Given the description of an element on the screen output the (x, y) to click on. 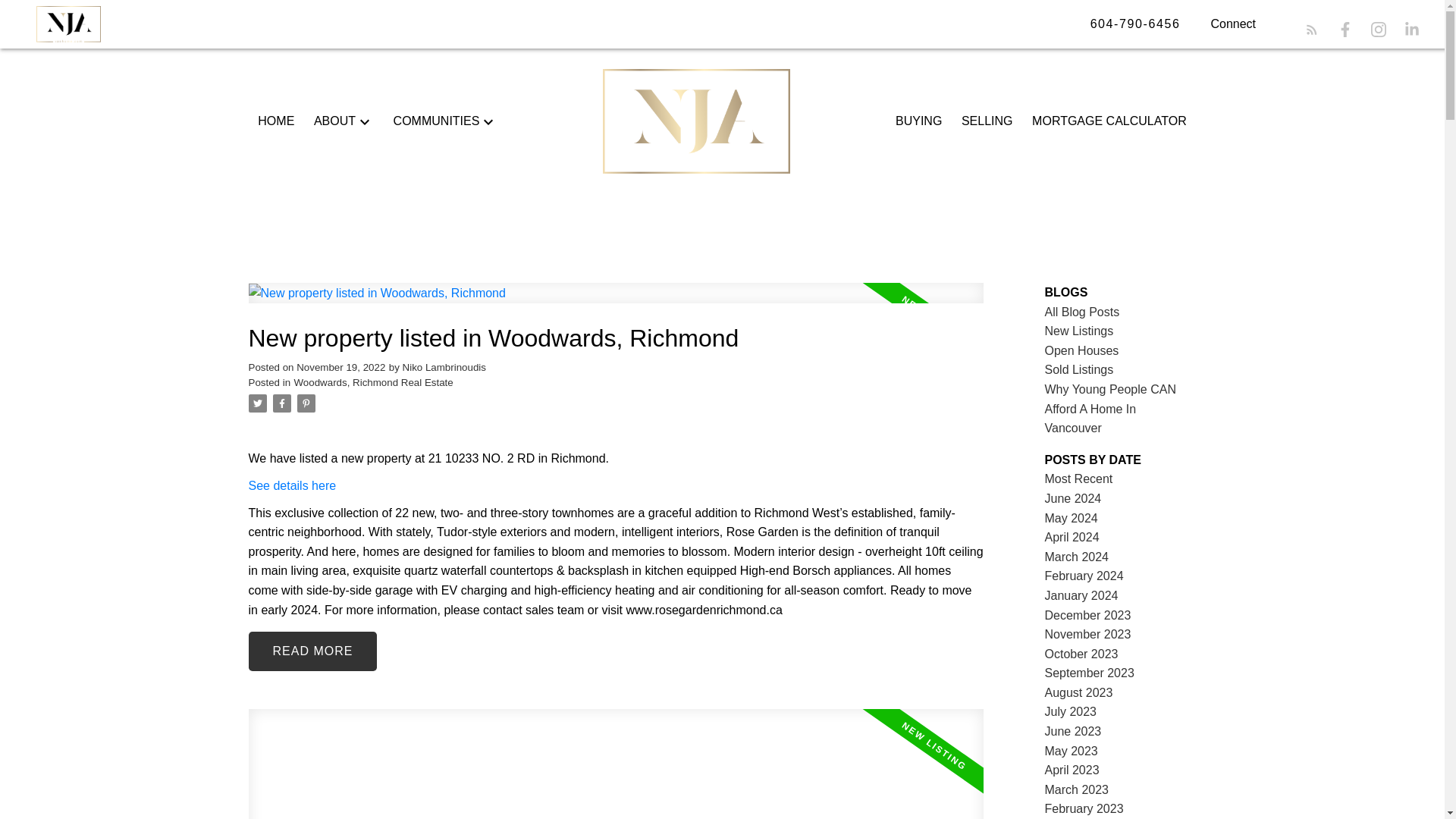
Connect (1233, 23)
MORTGAGE CALCULATOR (1109, 121)
Read full post (616, 764)
HOME (275, 121)
Read full post (616, 301)
BUYING (918, 121)
ABOUT (334, 121)
SELLING (986, 121)
